Given the description of an element on the screen output the (x, y) to click on. 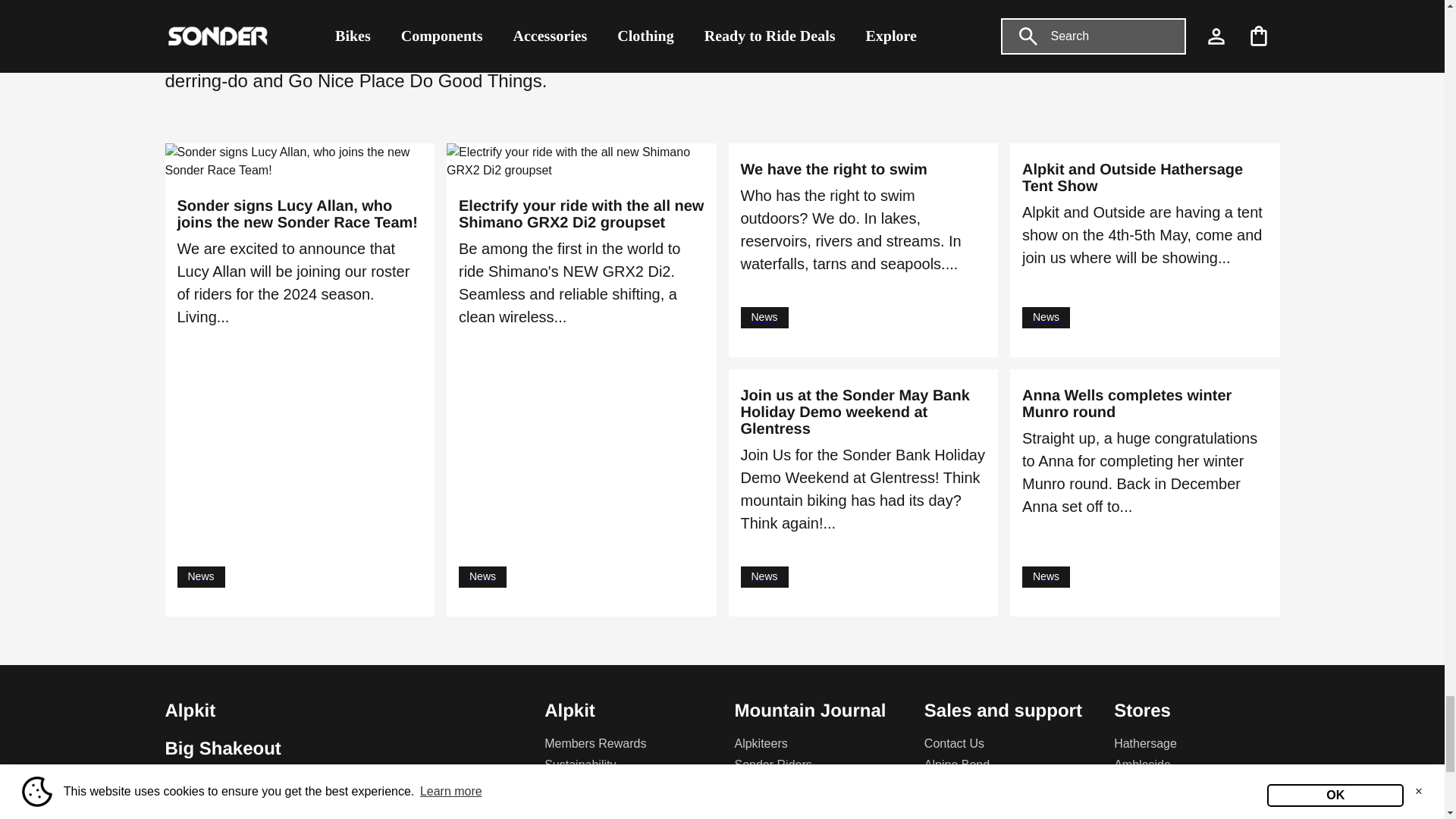
We have the right to swim (862, 169)
Anna Wells completes winter Munro round (1145, 403)
Alpkit and Outside Hathersage Tent Show (1145, 177)
Sonder signs Lucy Allan, who joins the new Sonder Race Team! (300, 214)
